Given the description of an element on the screen output the (x, y) to click on. 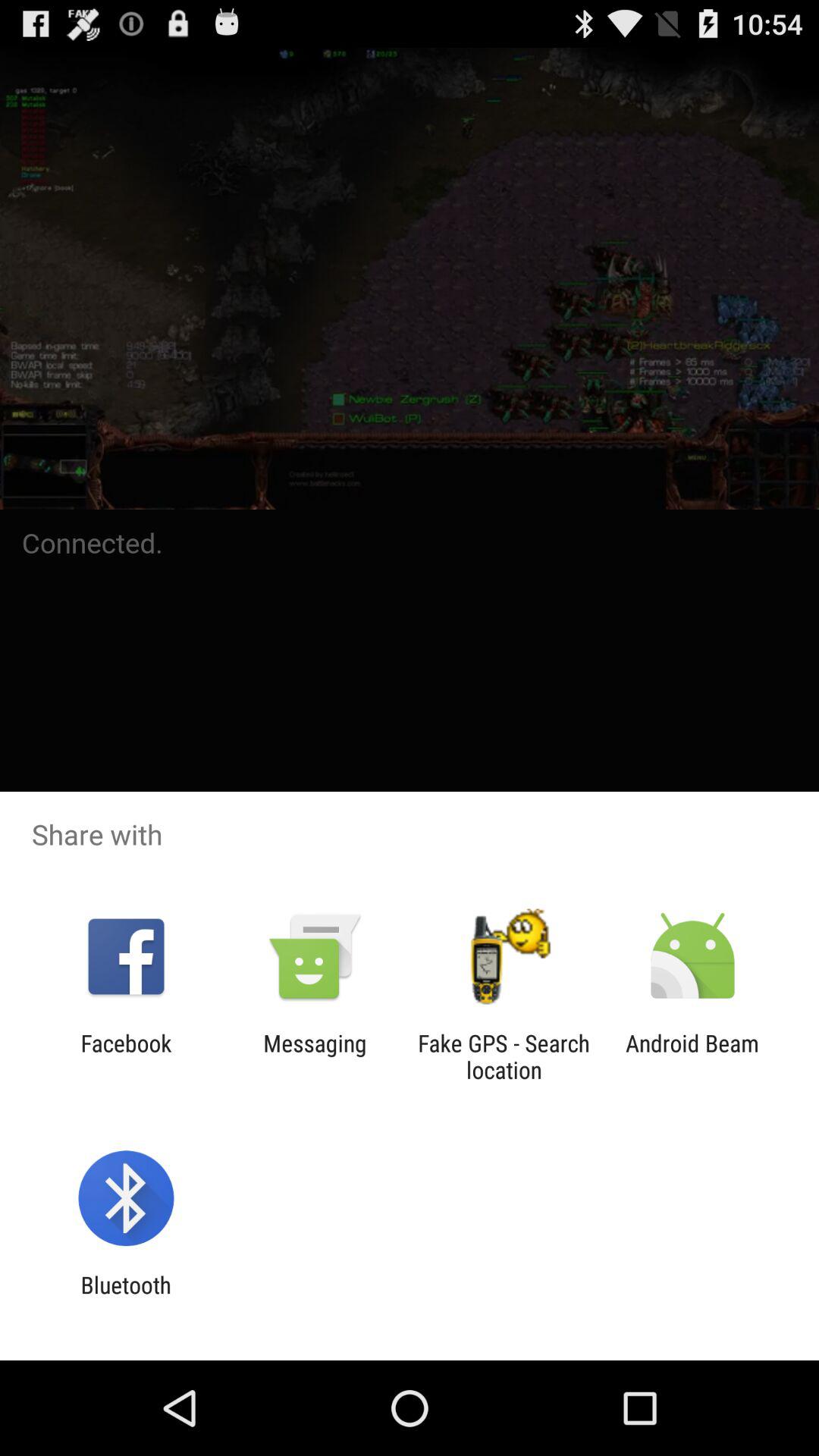
scroll until the fake gps search (503, 1056)
